Given the description of an element on the screen output the (x, y) to click on. 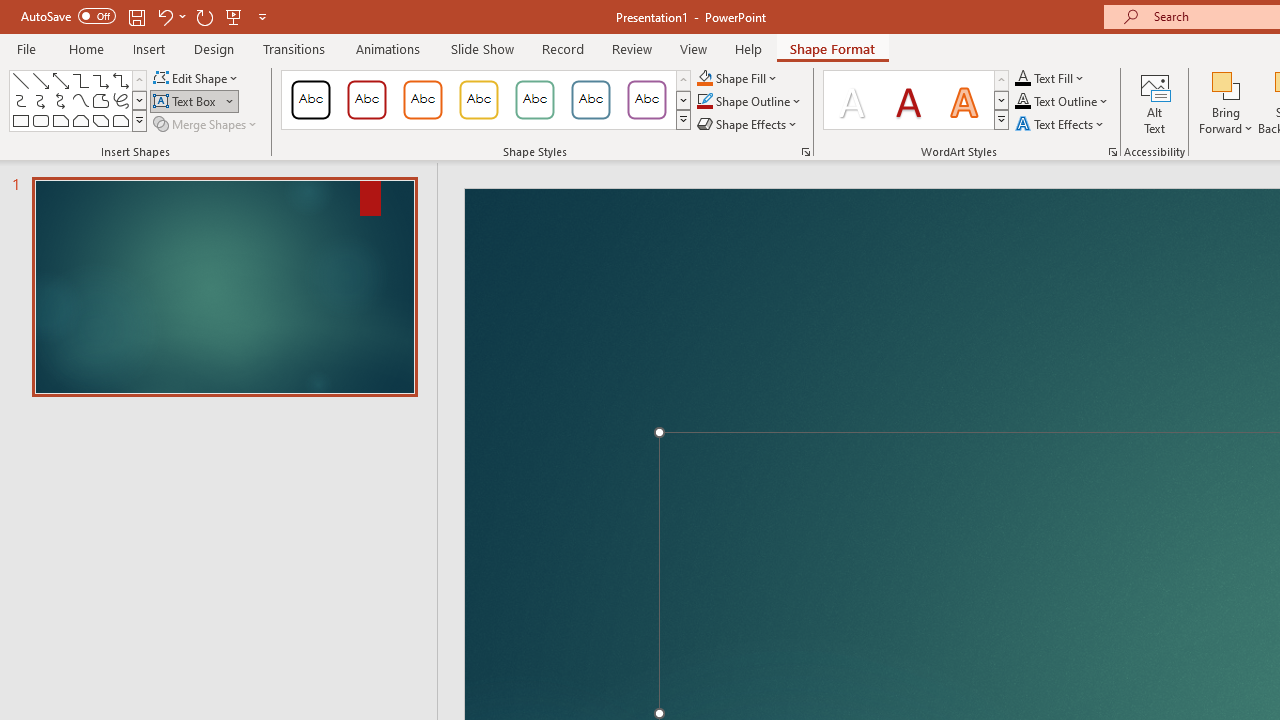
Colored Outline - Green, Accent 4 (534, 100)
Text Outline (1062, 101)
Text Outline RGB(0, 0, 0) (1023, 101)
Line Arrow: Double (60, 80)
